Given the description of an element on the screen output the (x, y) to click on. 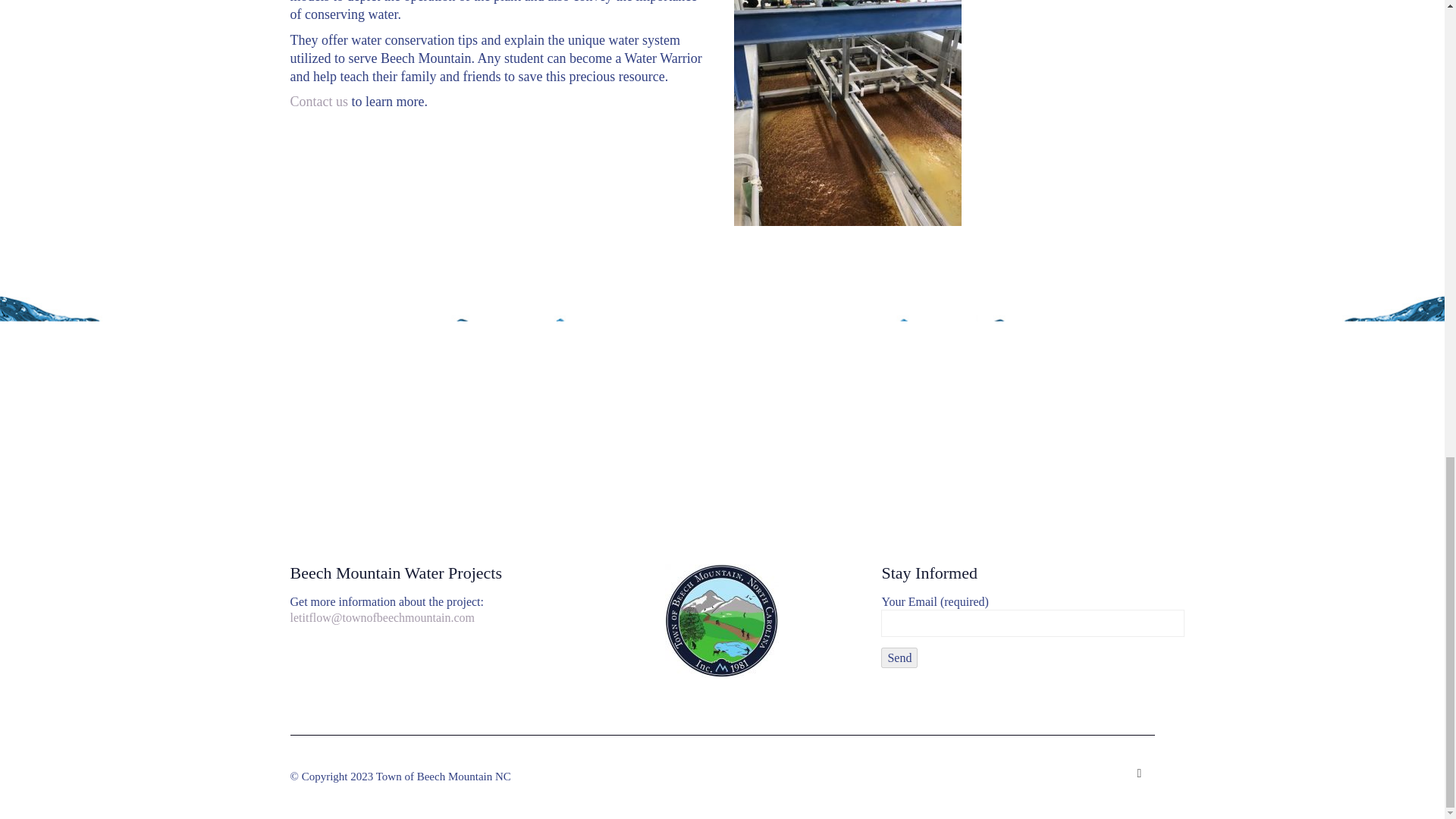
Email (1139, 773)
Untitled attachment 00013 (846, 113)
Send (898, 657)
